Given the description of an element on the screen output the (x, y) to click on. 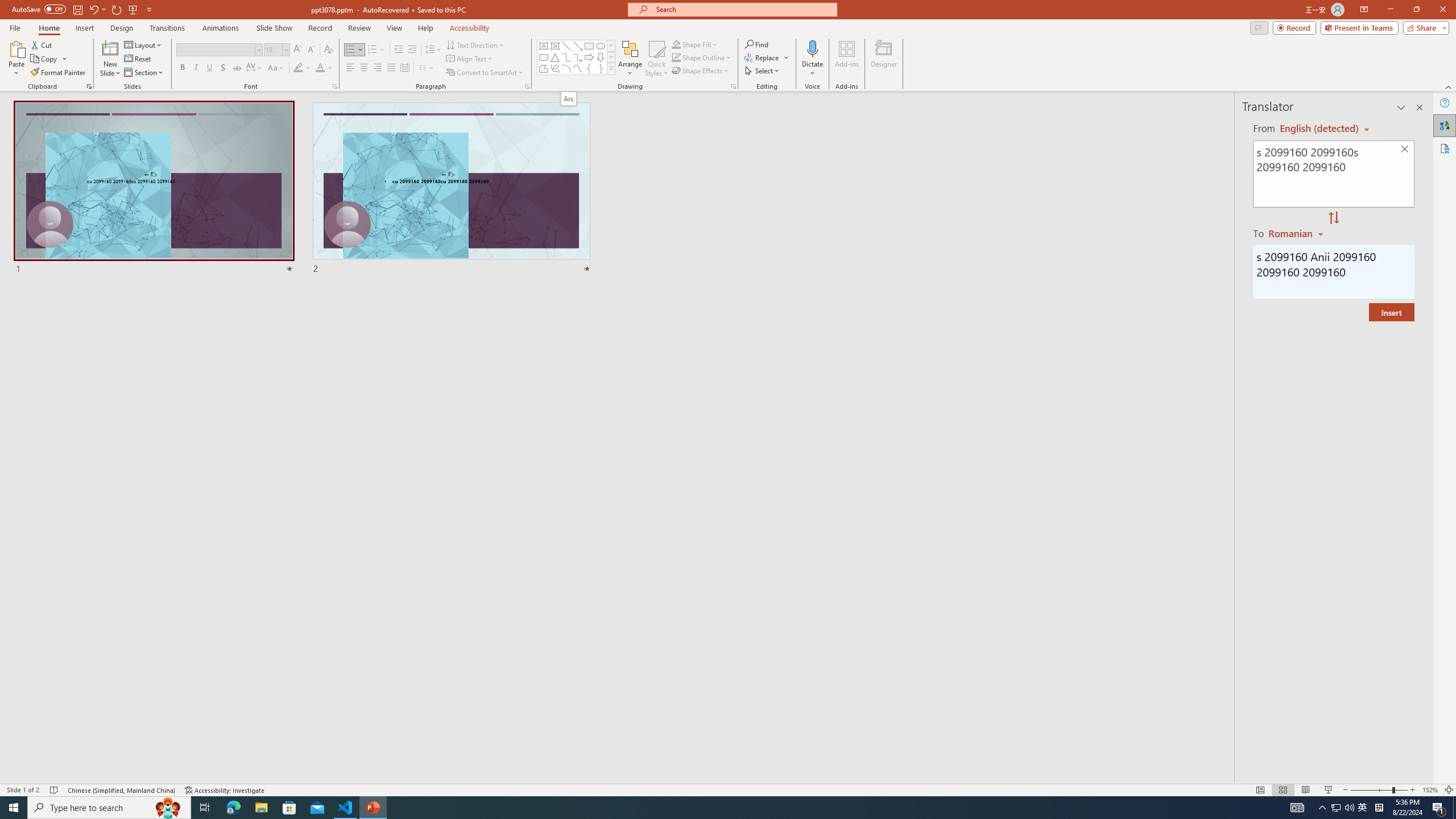
Shape Outline (701, 56)
Rectangle: Rounded Corners (543, 57)
Arc (568, 98)
Zoom 152% (1430, 790)
Layout (143, 44)
